Given the description of an element on the screen output the (x, y) to click on. 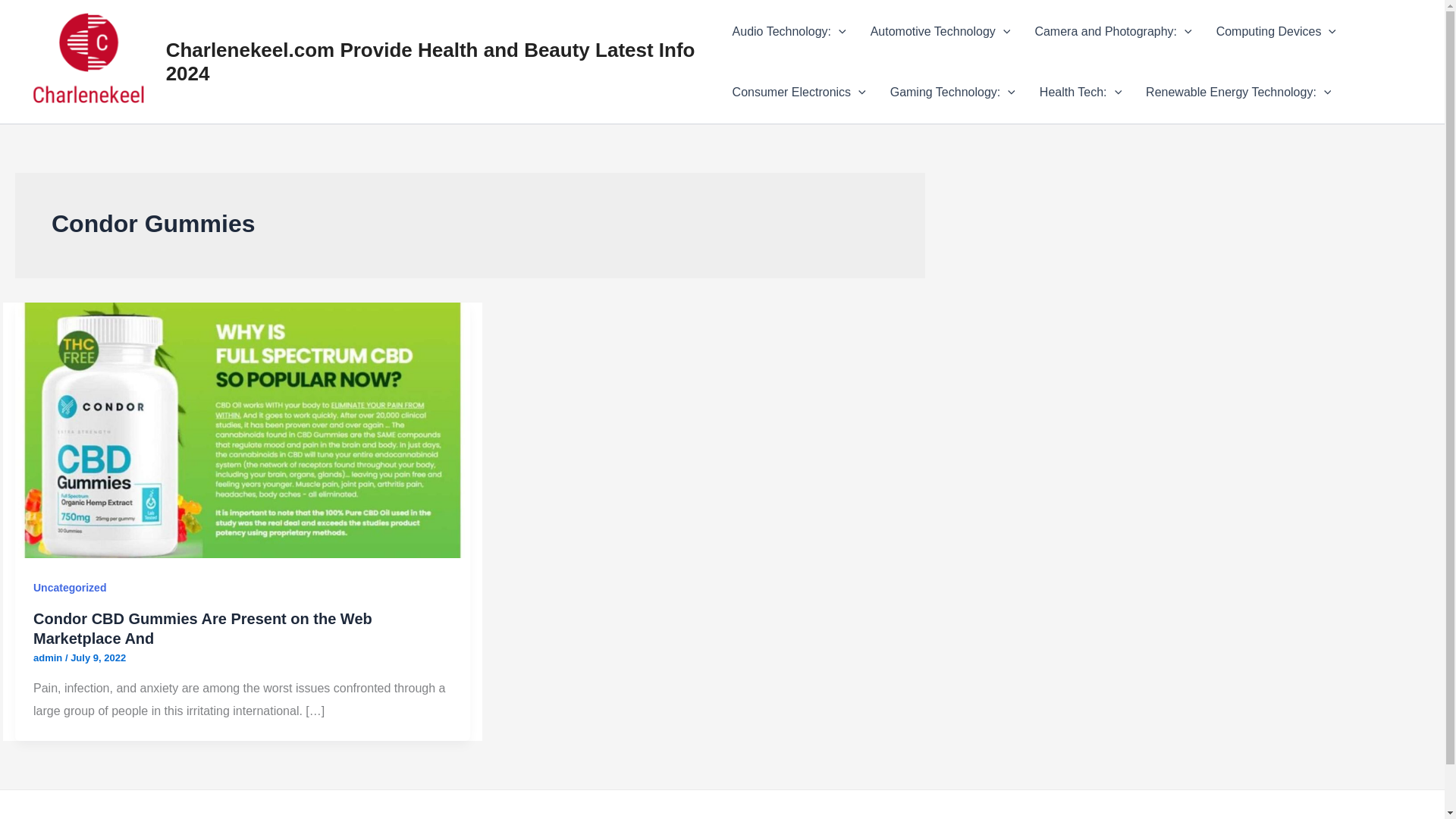
View all posts by admin (49, 657)
Automotive Technology (941, 31)
Consumer Electronics (798, 92)
Charlenekeel.com Provide Health and Beauty Latest Info 2024 (430, 60)
Audio Technology: (789, 31)
Health Tech: (1080, 92)
Computing Devices (1276, 31)
Gaming Technology: (952, 92)
Camera and Photography: (1113, 31)
